Given the description of an element on the screen output the (x, y) to click on. 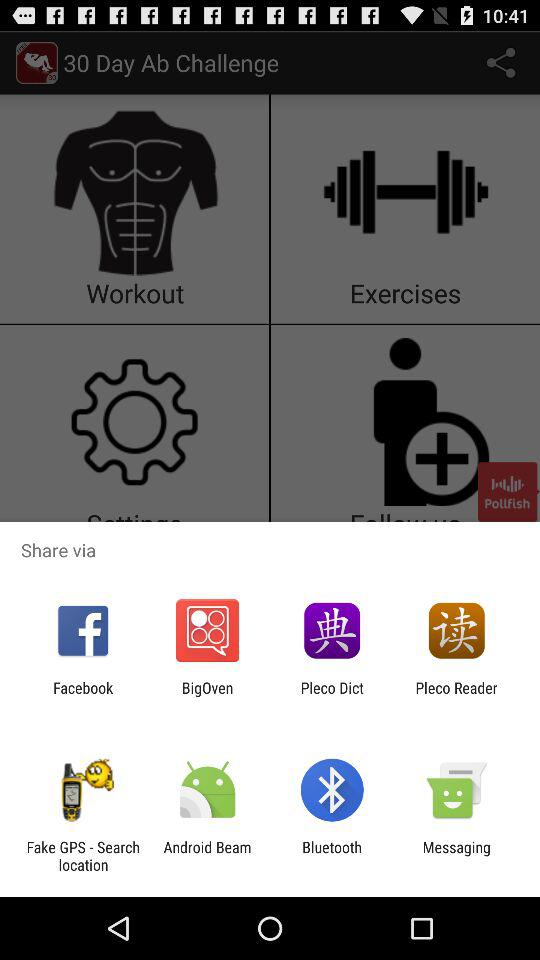
turn off the facebook (83, 696)
